Given the description of an element on the screen output the (x, y) to click on. 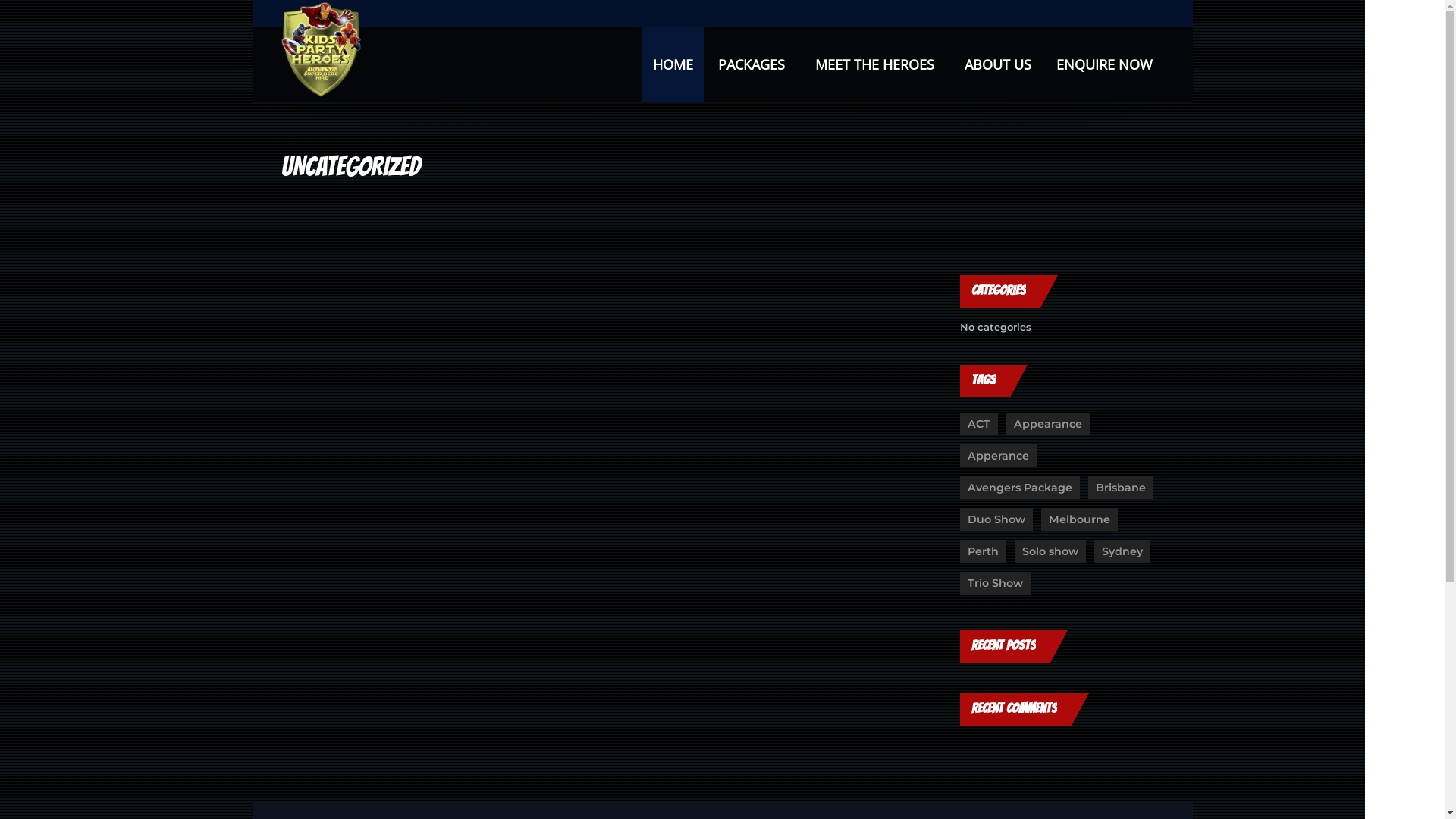
HOME Element type: text (672, 64)
ACT Element type: text (978, 423)
Uncategorized | Kids Party Heroes Element type: hover (320, 49)
Duo Show Element type: text (996, 519)
ABOUT US Element type: text (997, 64)
Sydney Element type: text (1122, 550)
Apperance Element type: text (998, 455)
MEET THE HEROES Element type: text (876, 64)
PACKAGES Element type: text (753, 64)
Trio Show Element type: text (995, 582)
Brisbane Element type: text (1120, 487)
Avengers Package Element type: text (1019, 487)
Melbourne Element type: text (1079, 519)
Solo show Element type: text (1049, 550)
ENQUIRE NOW Element type: text (1103, 64)
Perth Element type: text (983, 550)
Appearance Element type: text (1047, 423)
